Given the description of an element on the screen output the (x, y) to click on. 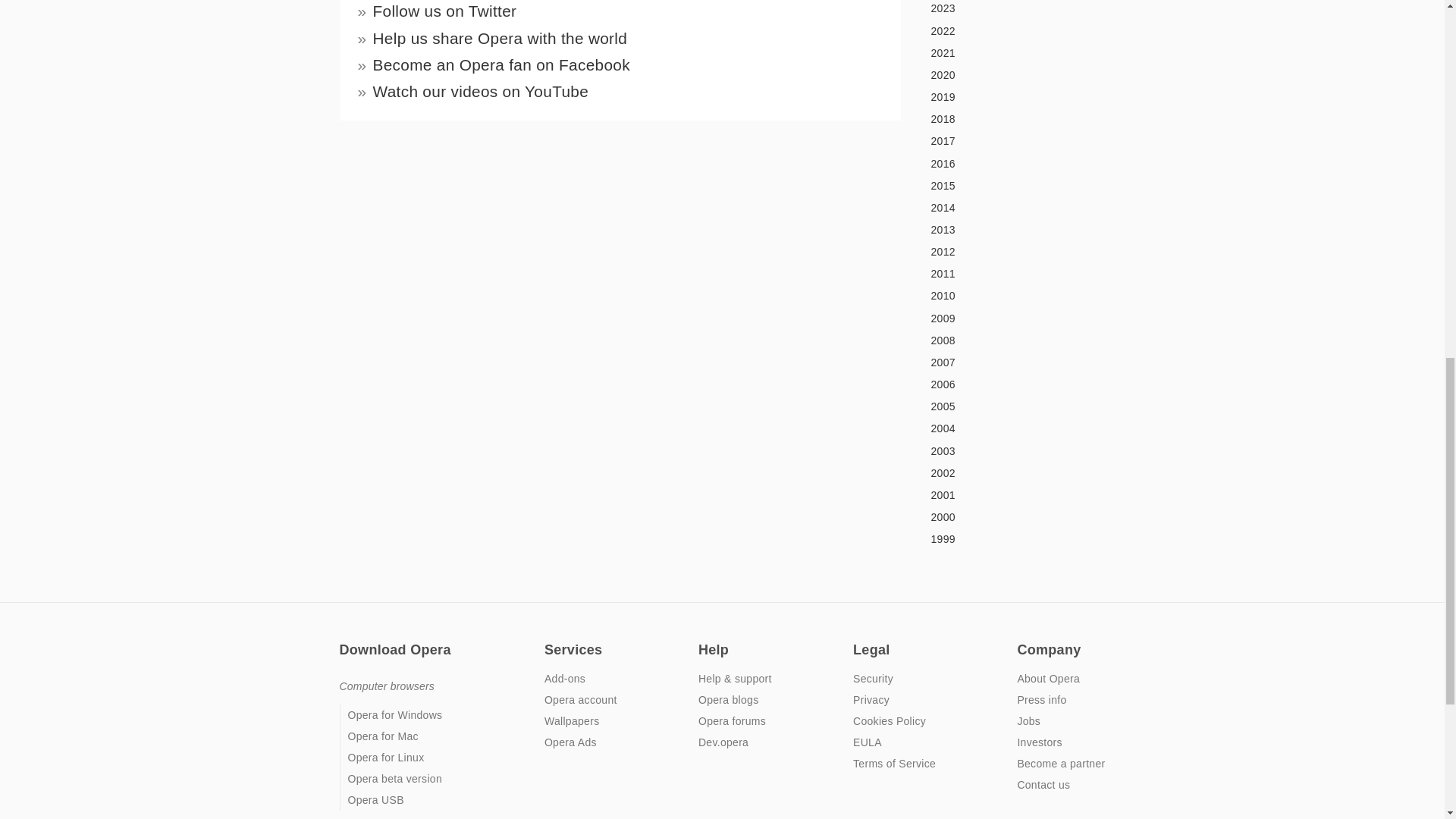
Watch our videos on YouTube (480, 90)
2022 (1014, 31)
2019 (1014, 97)
2018 (1014, 119)
2021 (1014, 53)
2017 (1014, 141)
Become an Opera fan on Facebook (501, 64)
2020 (1014, 75)
Help us share Opera with the world (499, 37)
2023 (1014, 9)
